Given the description of an element on the screen output the (x, y) to click on. 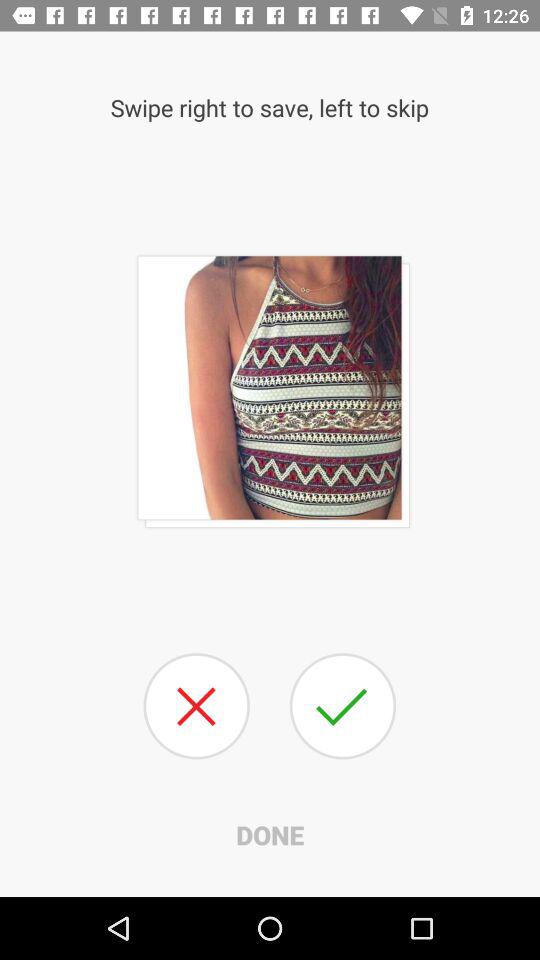
save (342, 705)
